Given the description of an element on the screen output the (x, y) to click on. 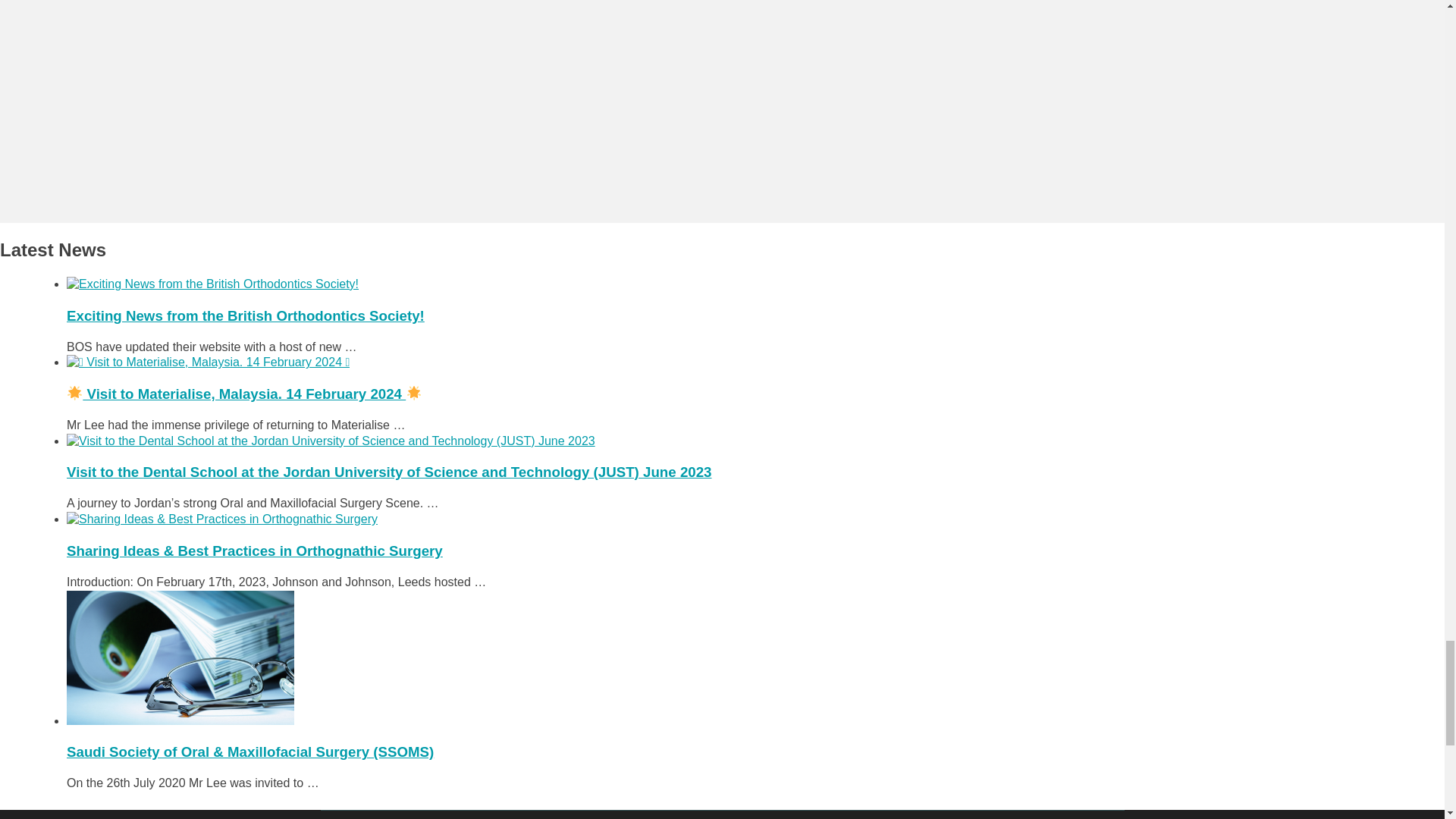
Exciting News from the British Orthodontics Society! (245, 315)
Visit to Materialise, Malaysia. 14 February 2024 (244, 393)
